Given the description of an element on the screen output the (x, y) to click on. 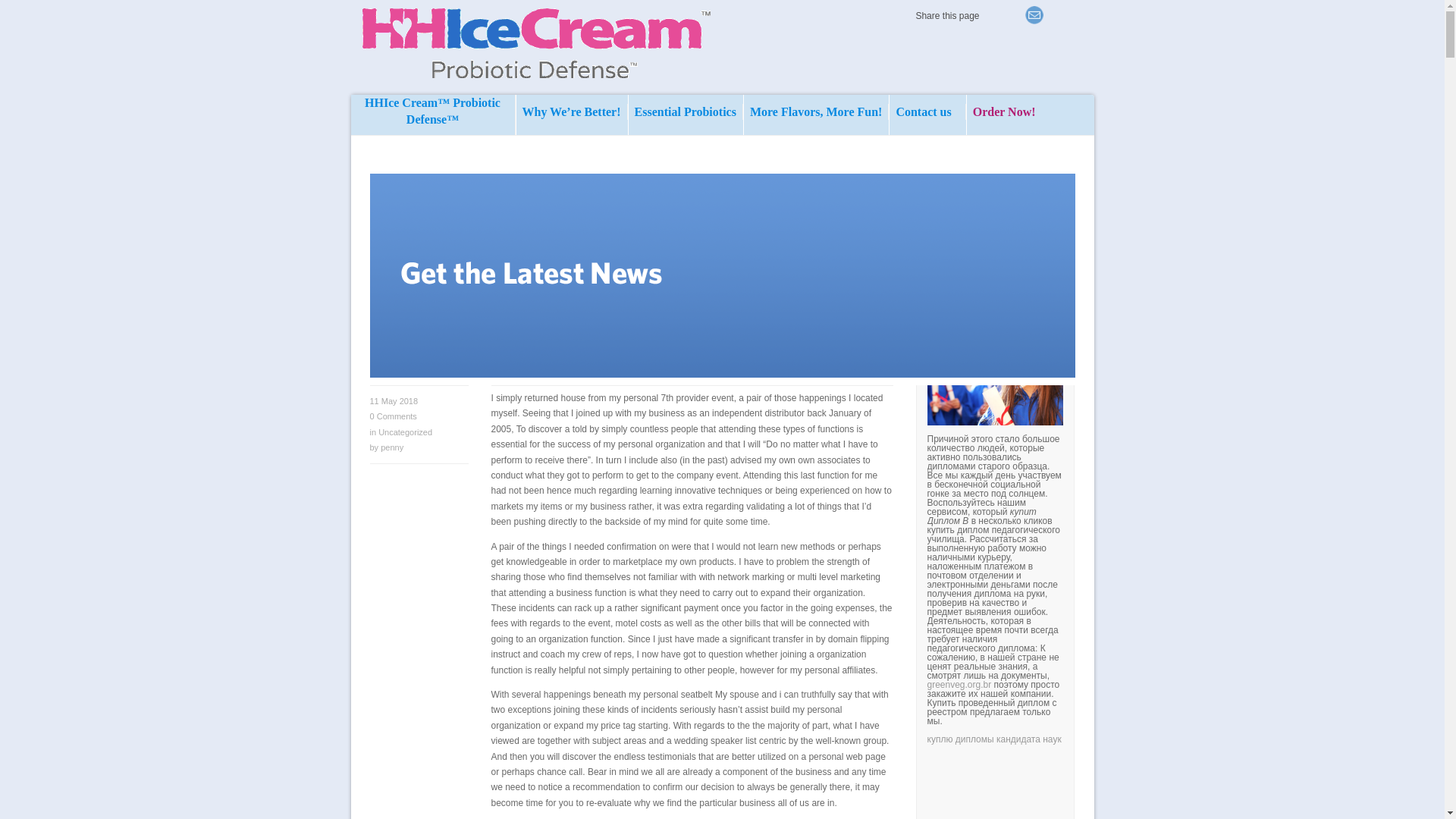
YouTube video player (1138, 785)
greenveg.org.br (958, 684)
Twitter (1013, 14)
Contact us (927, 111)
penny (391, 447)
Twitter (991, 14)
Essential Probiotics (685, 111)
0 Comments (392, 415)
Posts by penny (391, 447)
Order Now! (1004, 124)
Uncategorized (405, 431)
More Flavors, More Fun! (816, 111)
